Given the description of an element on the screen output the (x, y) to click on. 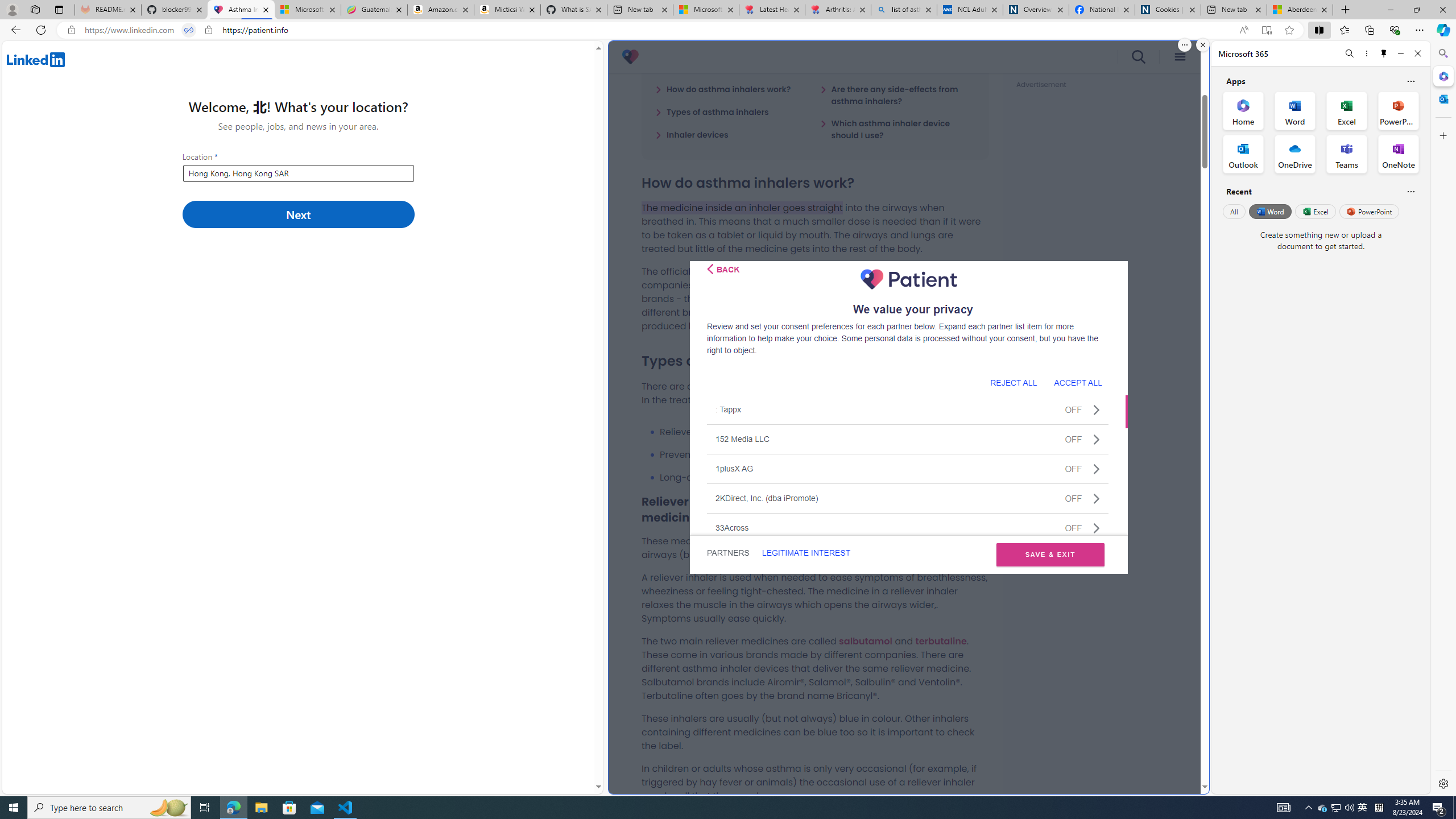
Home Office App (1243, 110)
Word (1269, 210)
OneDrive Office App (1295, 154)
terbutaline (940, 640)
Class: css-jswnc6 (1096, 527)
Asthma Inhalers: Names and Types (240, 9)
2KDirect, Inc. (dba iPromote)OFF (907, 498)
Long-acting bronchodilators. (823, 477)
1plusX AGOFF (907, 468)
salbutamol (865, 640)
How do asthma inhalers work? (722, 88)
Tabs in split screen (189, 29)
